Given the description of an element on the screen output the (x, y) to click on. 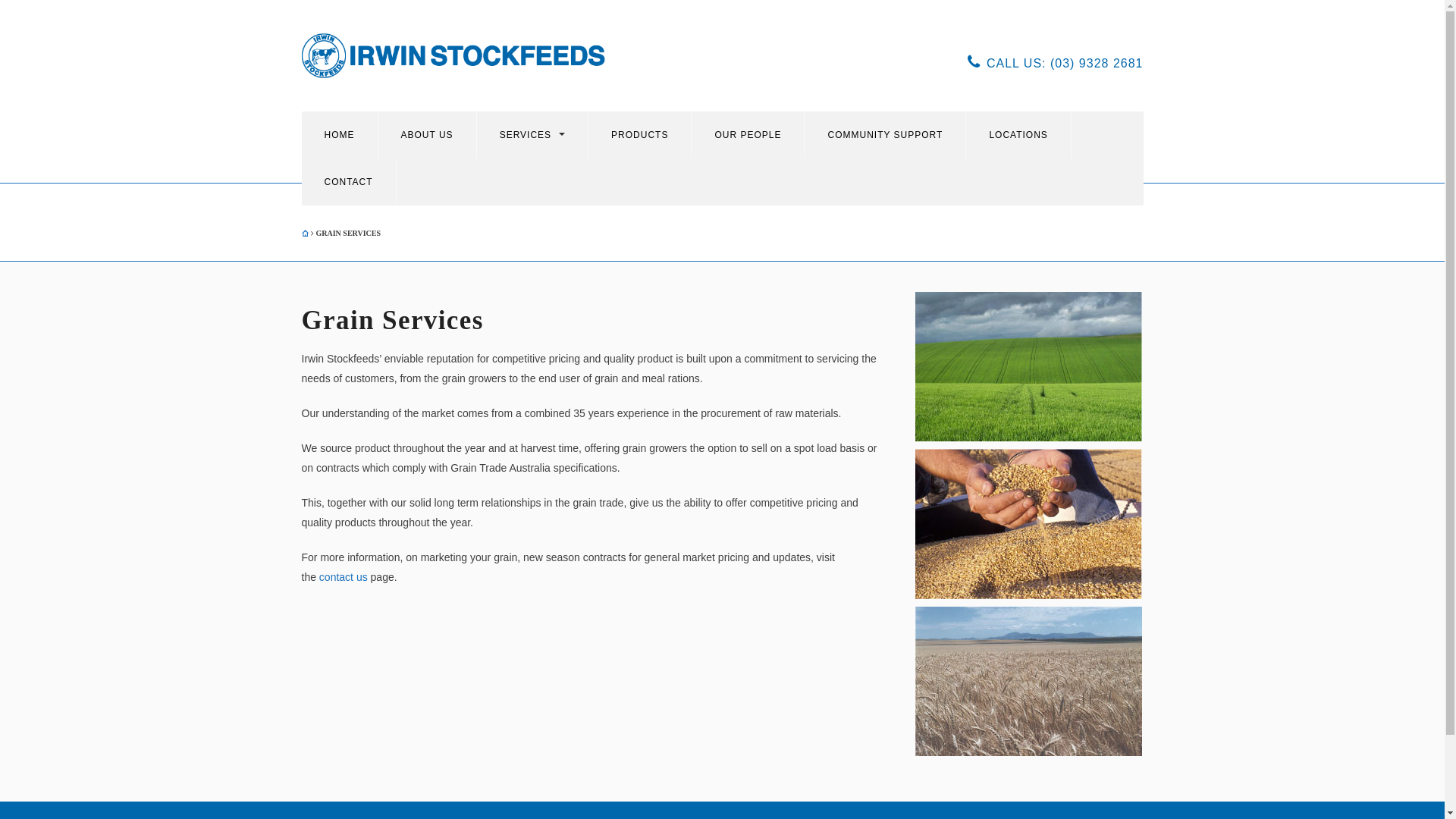
CONTACT Element type: text (348, 181)
PRODUCTS Element type: text (639, 134)
SERVICES Element type: text (531, 134)
ABOUT US Element type: text (426, 134)
HOME Element type: text (339, 134)
contact us Element type: text (343, 577)
CALL US: (03) 9328 2681 Element type: text (1055, 62)
LOCATIONS Element type: text (1017, 134)
COMMUNITY SUPPORT Element type: text (884, 134)
OUR PEOPLE Element type: text (747, 134)
